Given the description of an element on the screen output the (x, y) to click on. 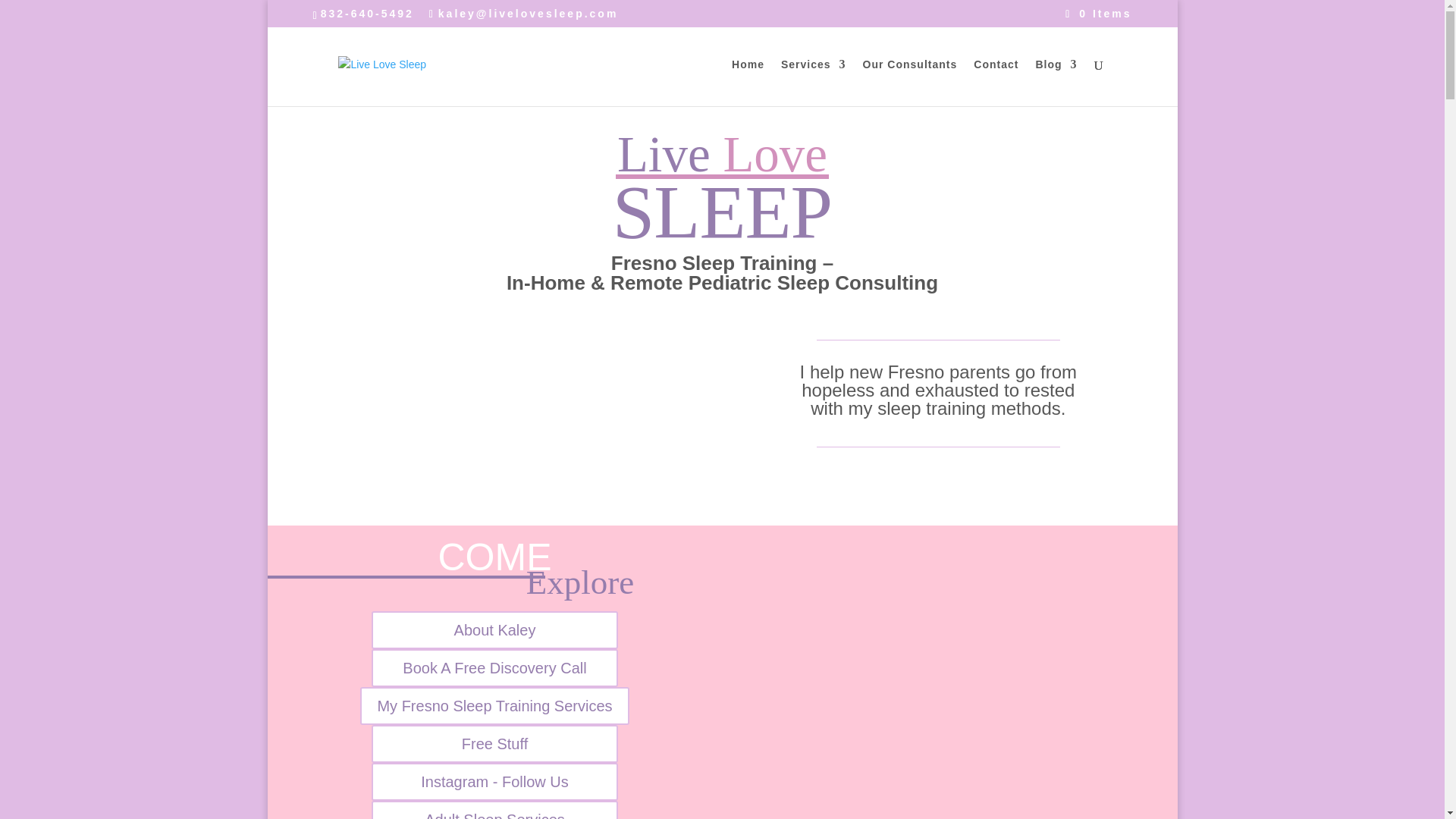
About Kaley (494, 629)
Our Consultants (910, 82)
aboutnewborn (911, 681)
Services (812, 82)
My Fresno Sleep Training Services (493, 705)
Contact (995, 82)
0 Items (1098, 13)
Book A Free Discovery Call (494, 668)
Instagram - Follow Us (494, 781)
Adult Sleep Services (494, 809)
